Given the description of an element on the screen output the (x, y) to click on. 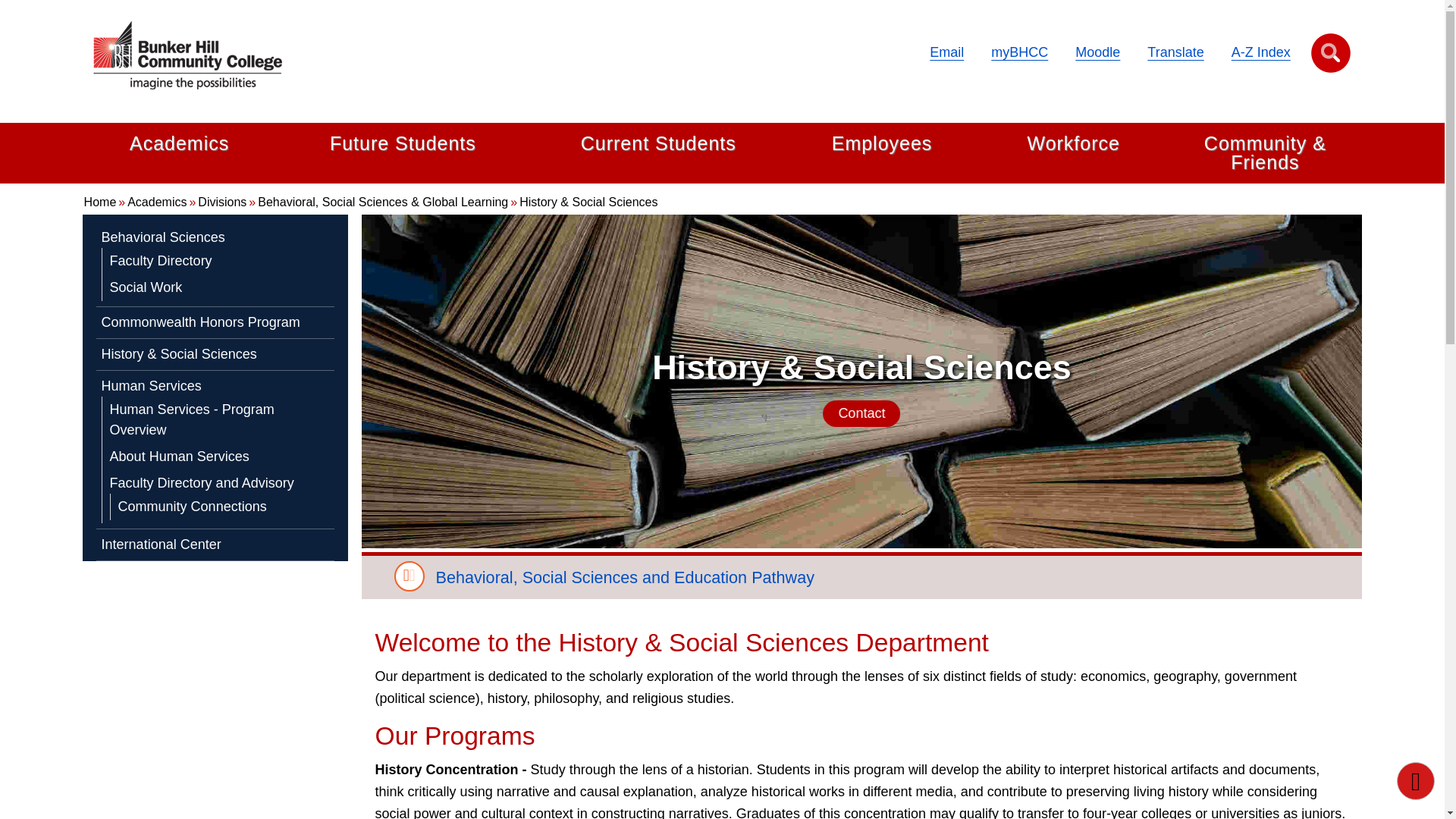
Moodle (1097, 52)
A-Z Index (1260, 52)
Future Students (403, 143)
Employees (882, 143)
Translate (1175, 52)
Current Students (658, 143)
Workforce (1072, 143)
Academics (178, 143)
myBHCC (1019, 52)
Email (946, 52)
